Given the description of an element on the screen output the (x, y) to click on. 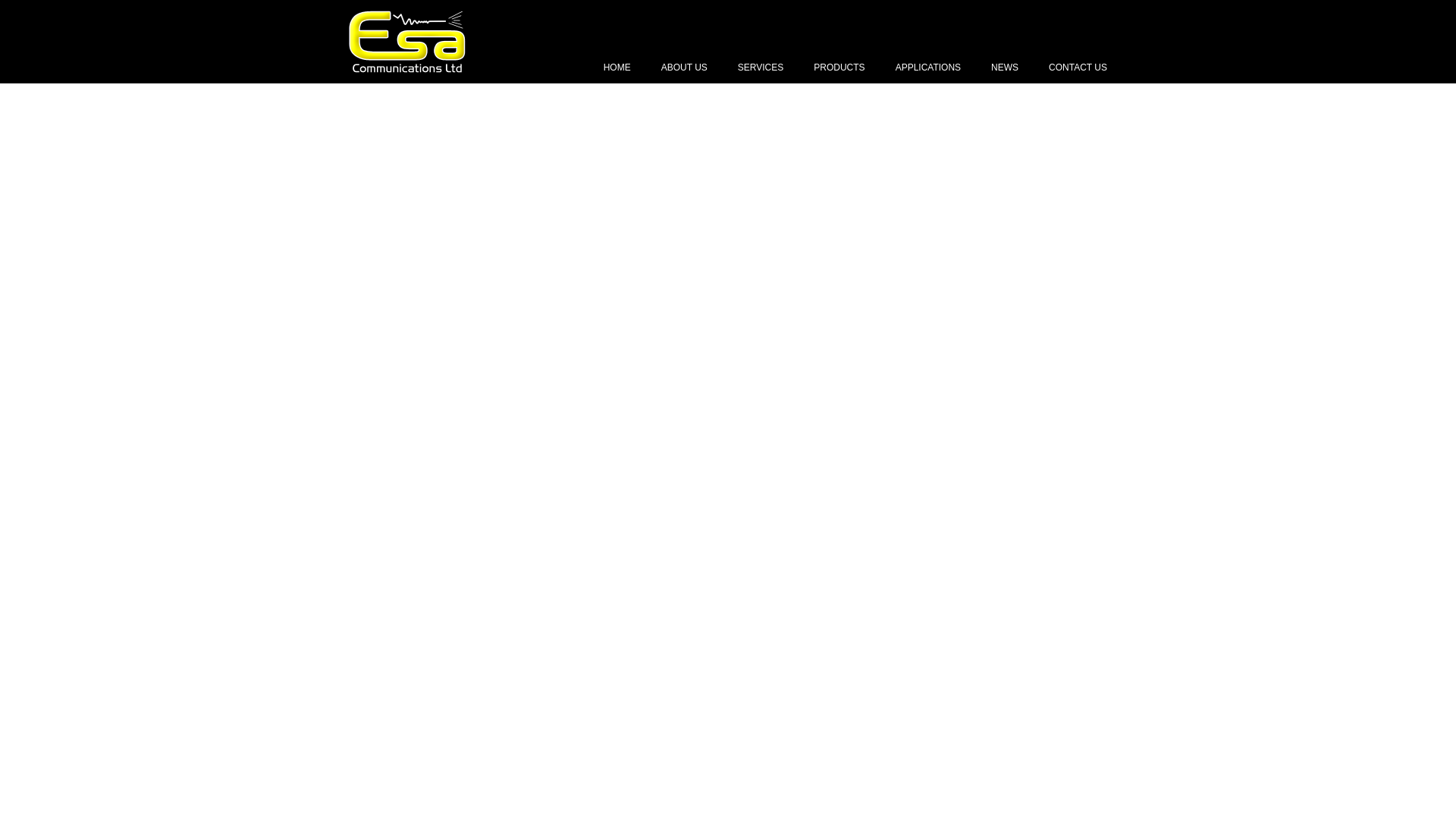
APPLICATIONS (927, 72)
HOME (617, 72)
Esa Communications Ltd (407, 68)
CONTACT US (1077, 72)
NEWS (1004, 72)
SERVICES (760, 72)
ABOUT US (684, 72)
PRODUCTS (838, 72)
